Given the description of an element on the screen output the (x, y) to click on. 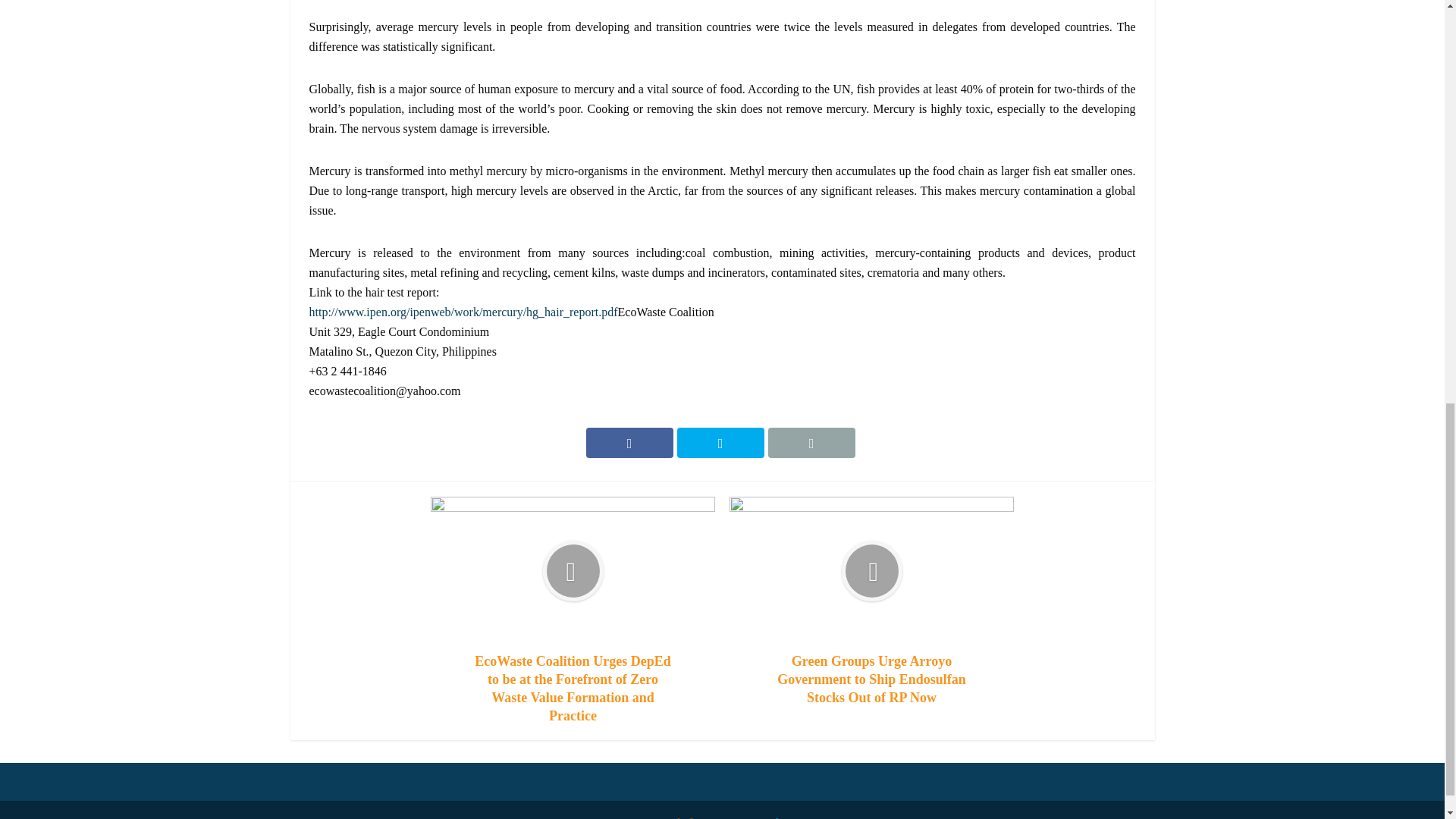
Ecowaste Coalition (757, 817)
